Given the description of an element on the screen output the (x, y) to click on. 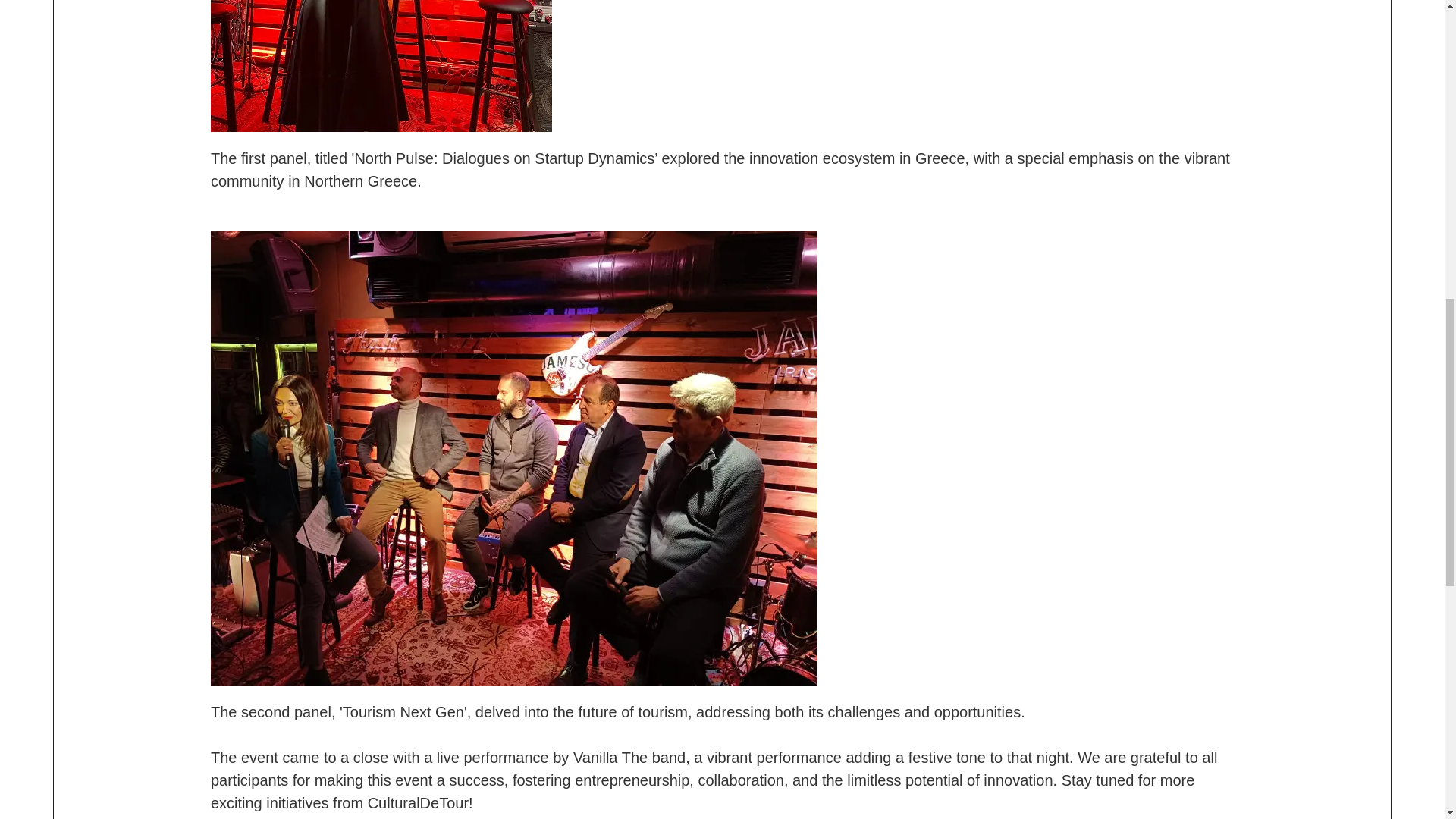
SyNU (513, 456)
